Given the description of an element on the screen output the (x, y) to click on. 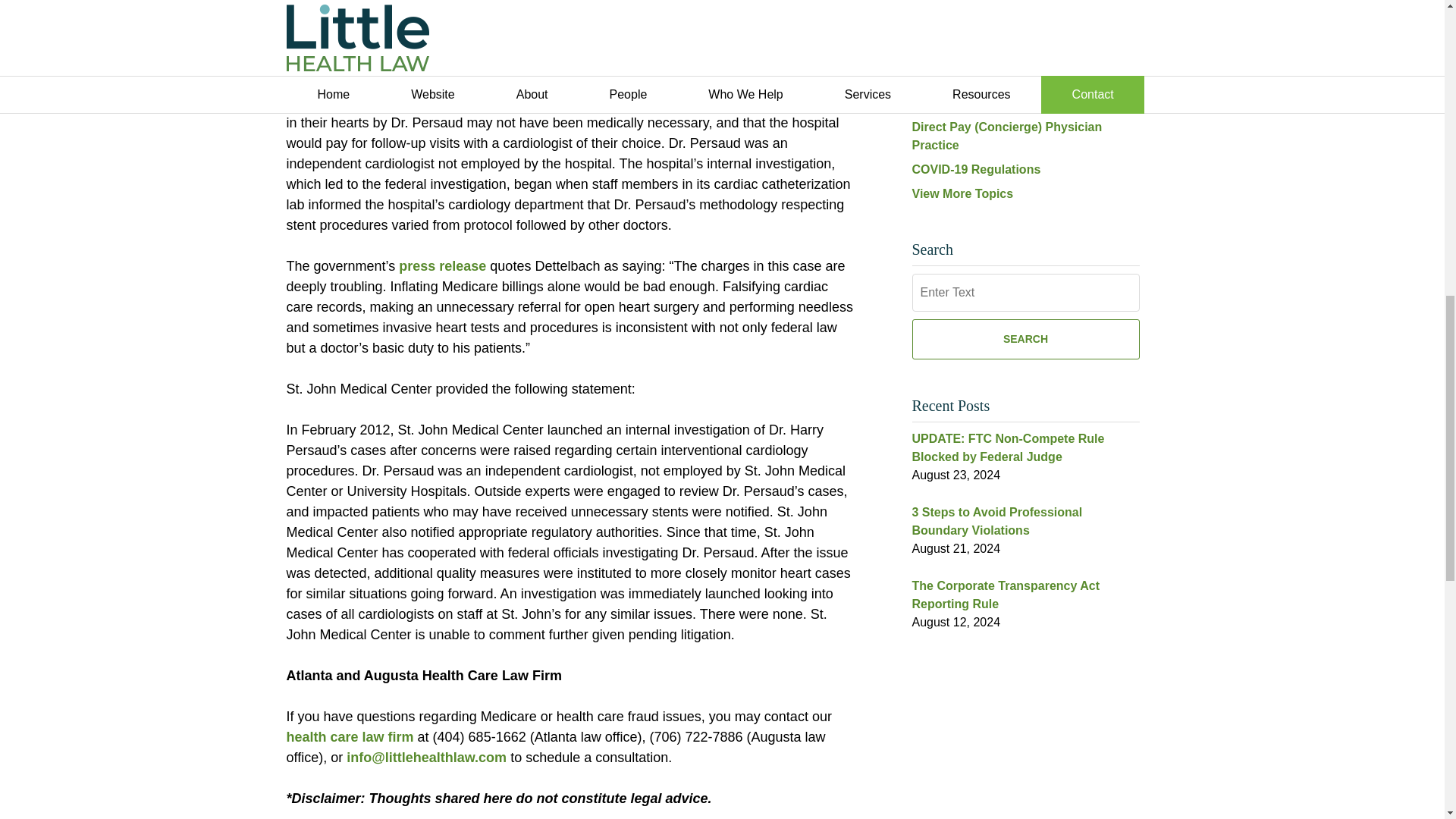
.com (490, 757)
Cleveland.com (528, 81)
press release (442, 265)
health care law firm (349, 736)
littlehealthlaw (429, 757)
